Given the description of an element on the screen output the (x, y) to click on. 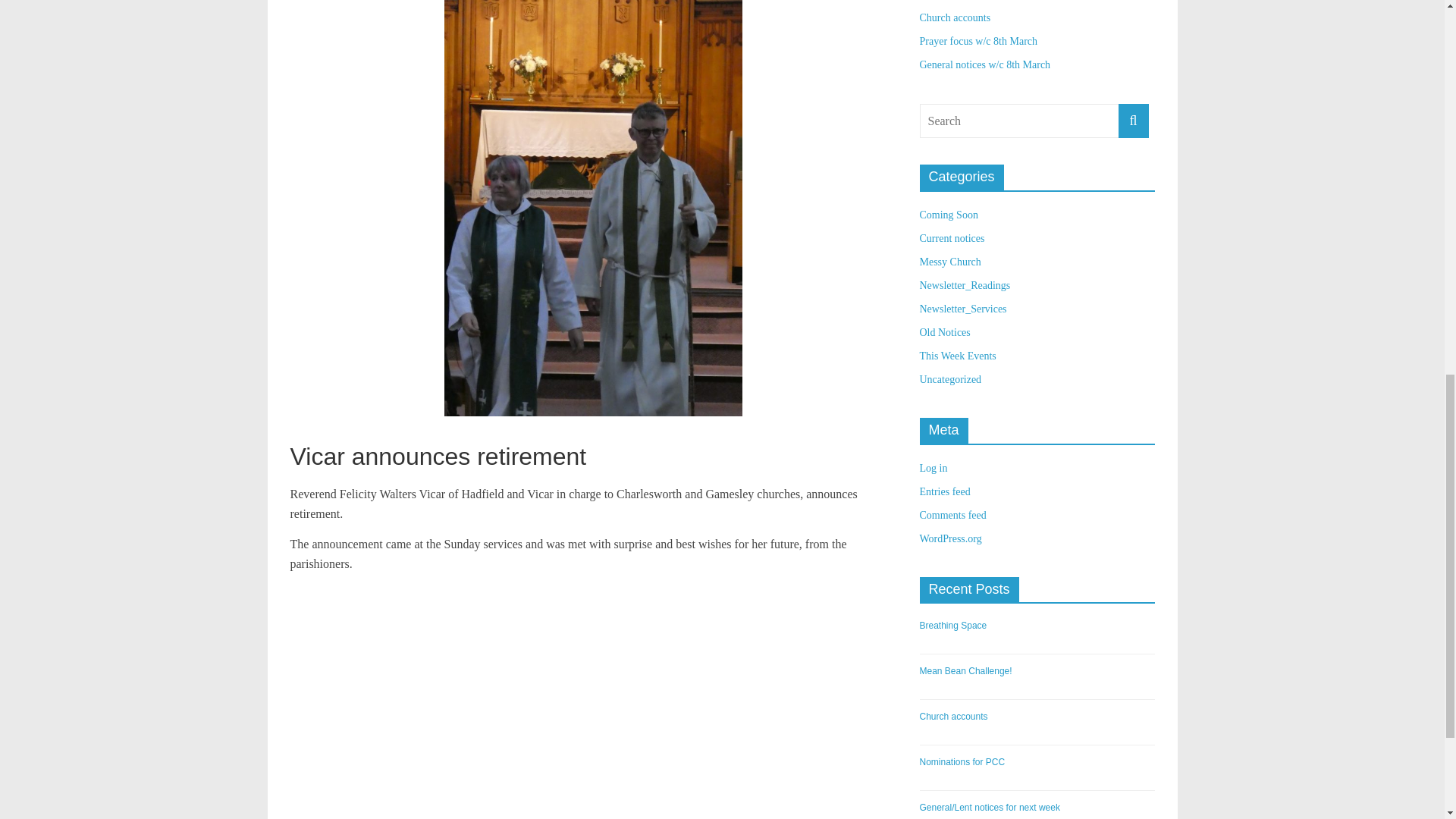
Comments feed (951, 514)
Entries feed (943, 491)
This Week Events (956, 355)
Old Notices (943, 332)
Coming Soon (947, 214)
Church accounts (954, 17)
Messy Church (948, 261)
Uncategorized (949, 378)
Log in (932, 468)
Current notices (951, 238)
